Given the description of an element on the screen output the (x, y) to click on. 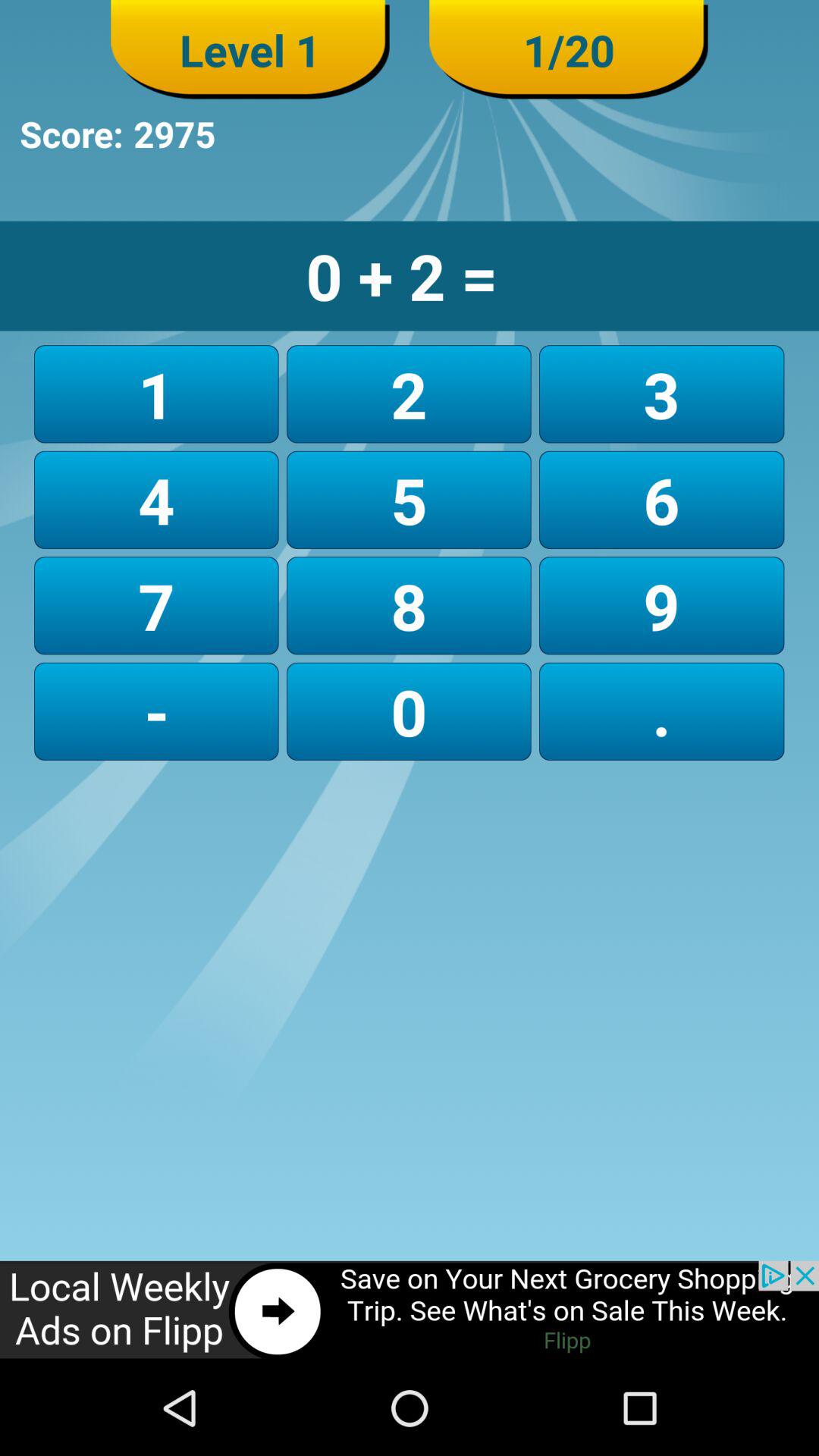
advertisement link to different site (409, 1310)
